Given the description of an element on the screen output the (x, y) to click on. 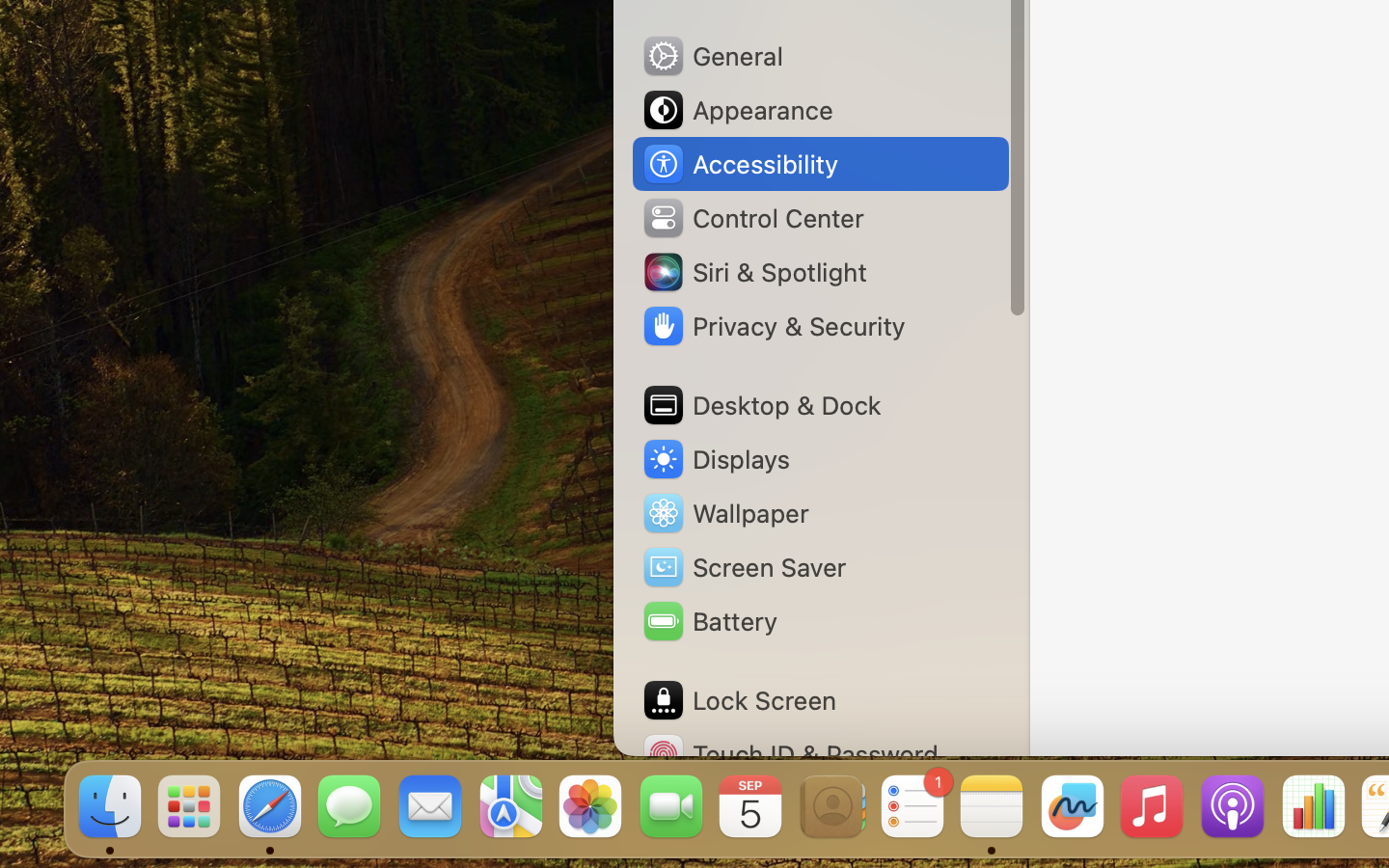
Desktop & Dock Element type: AXStaticText (760, 404)
Battery Element type: AXStaticText (708, 620)
Control Center Element type: AXStaticText (752, 217)
Lock Screen Element type: AXStaticText (738, 700)
Appearance Element type: AXStaticText (736, 109)
